Given the description of an element on the screen output the (x, y) to click on. 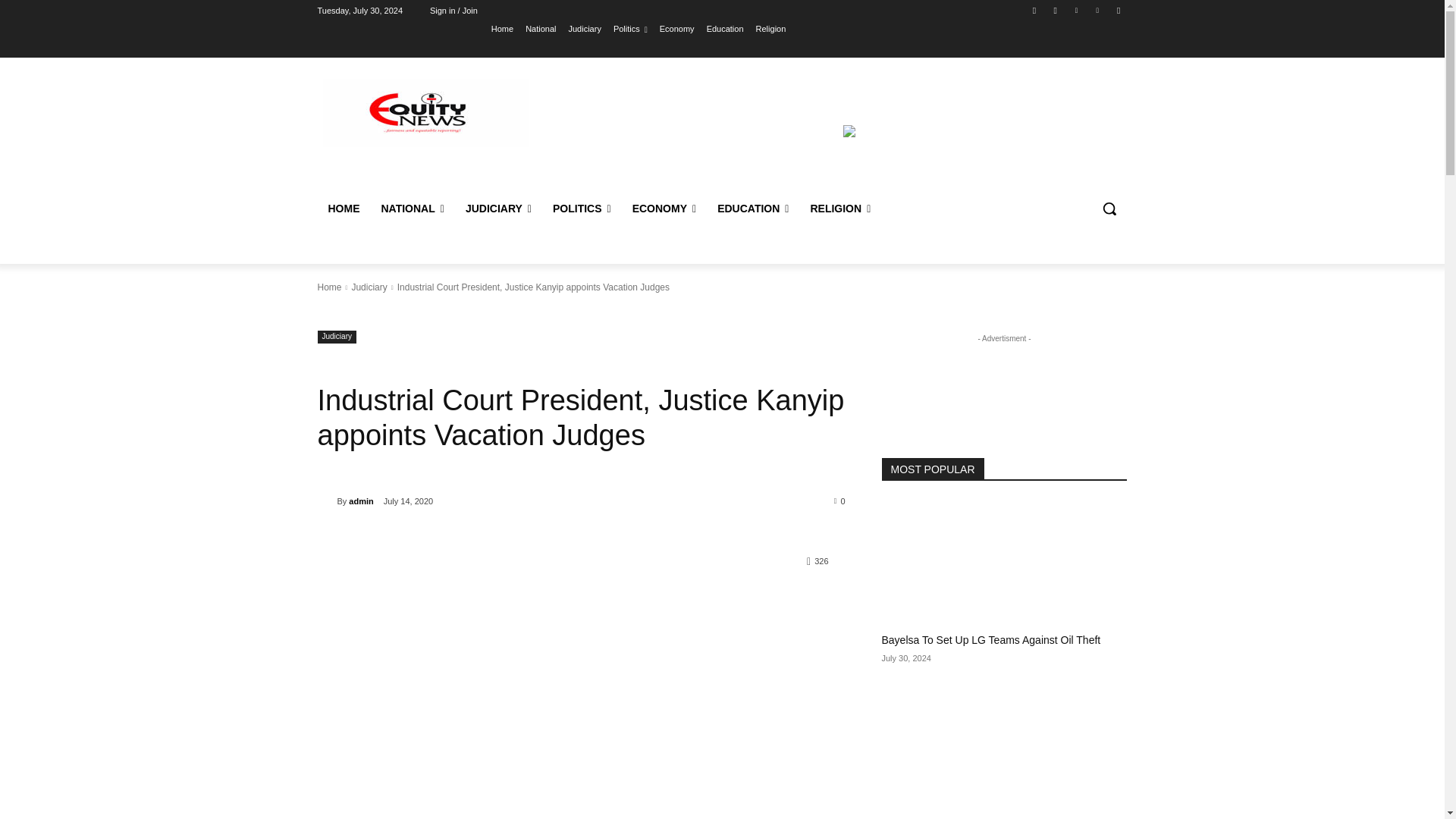
Politics (629, 28)
Home (502, 28)
Economy (676, 28)
Twitter (1075, 9)
Instagram (1055, 9)
Religion (770, 28)
Vimeo (1097, 9)
Judiciary (583, 28)
Youtube (1117, 9)
Education (725, 28)
National (540, 28)
Facebook (1034, 9)
